Given the description of an element on the screen output the (x, y) to click on. 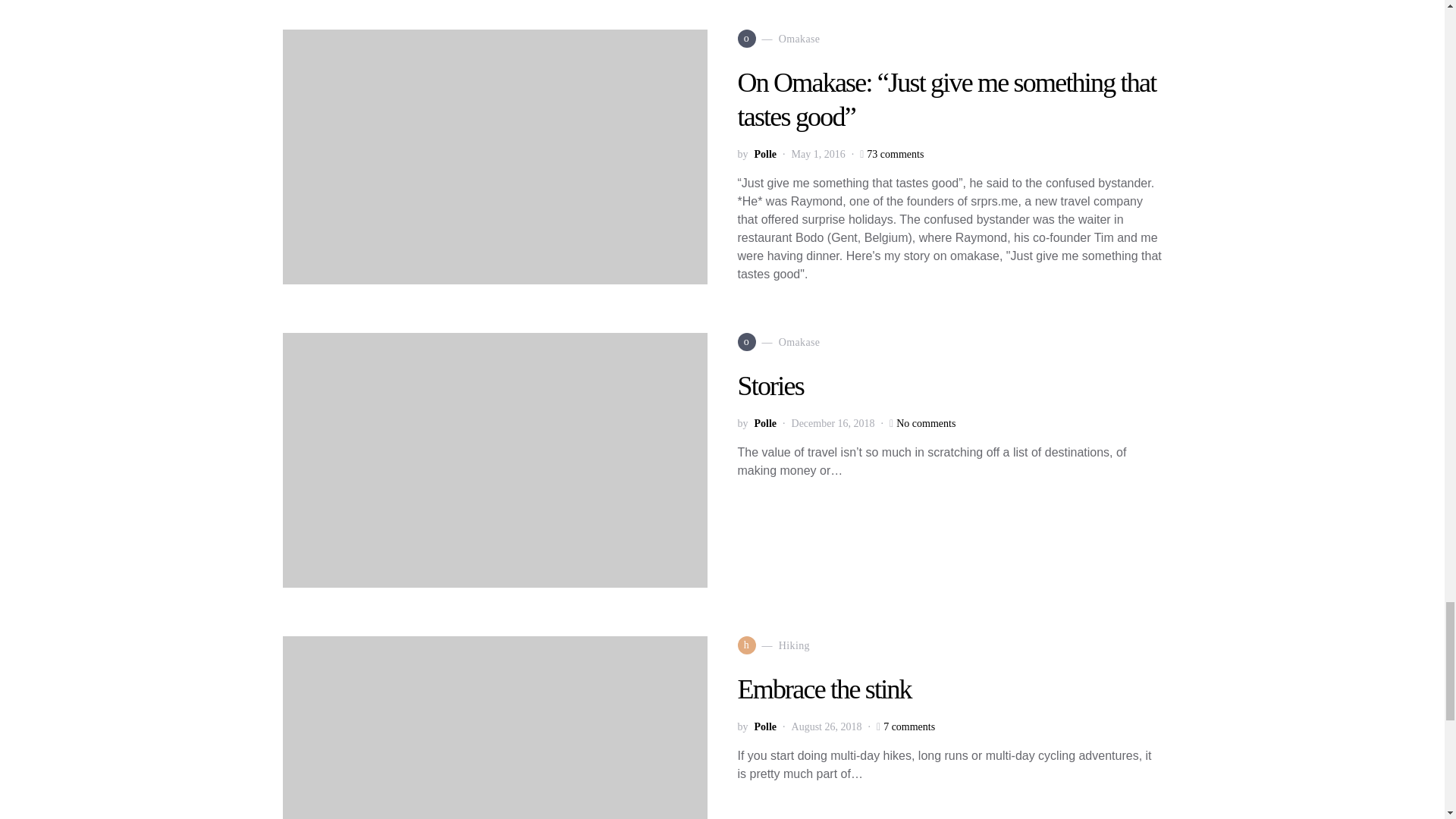
View all posts by Polle (765, 154)
View all posts by Polle (765, 726)
View all posts by Polle (765, 423)
